Given the description of an element on the screen output the (x, y) to click on. 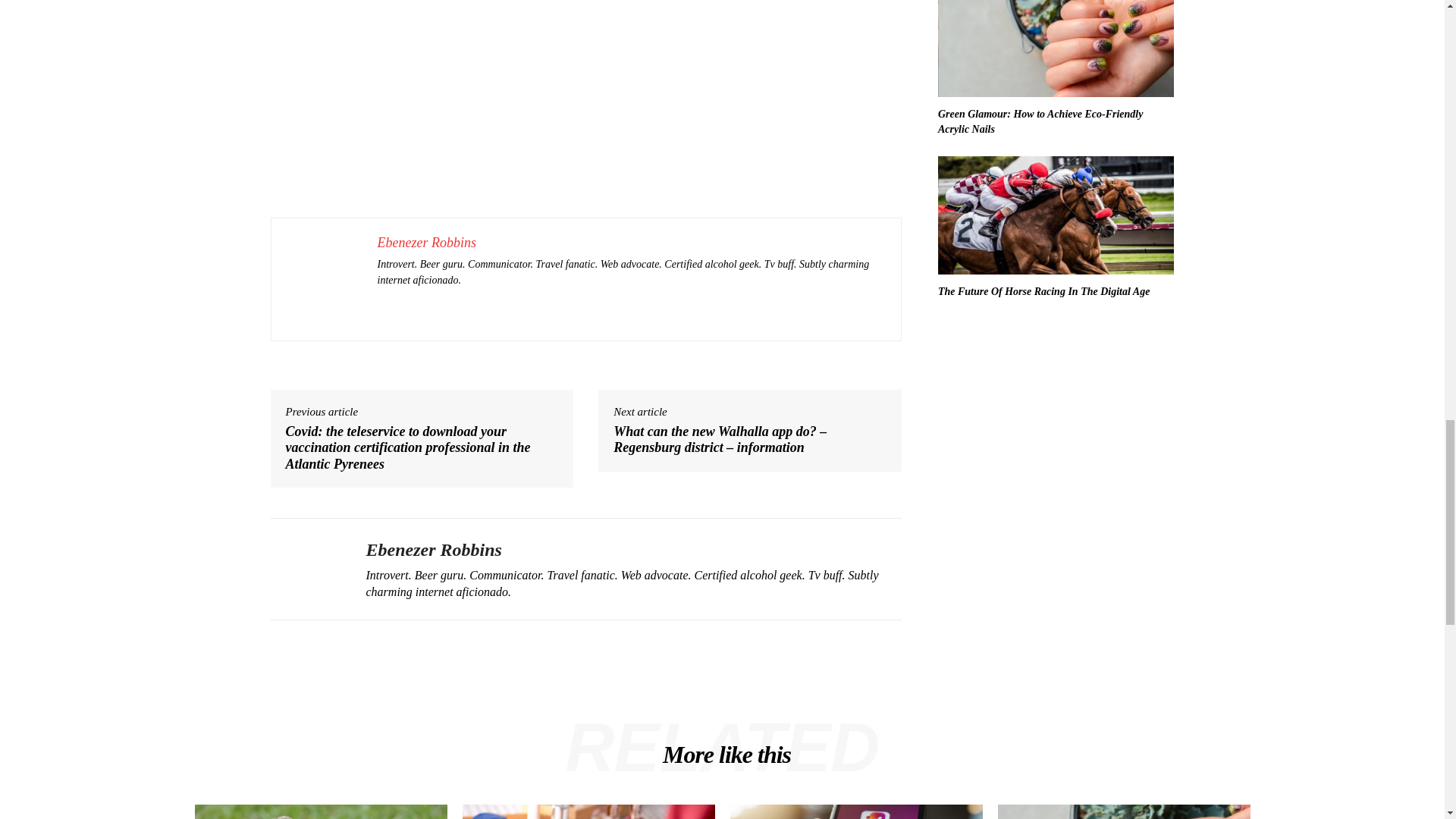
Advertisement (585, 110)
Ebenezer Robbins (305, 568)
